Given the description of an element on the screen output the (x, y) to click on. 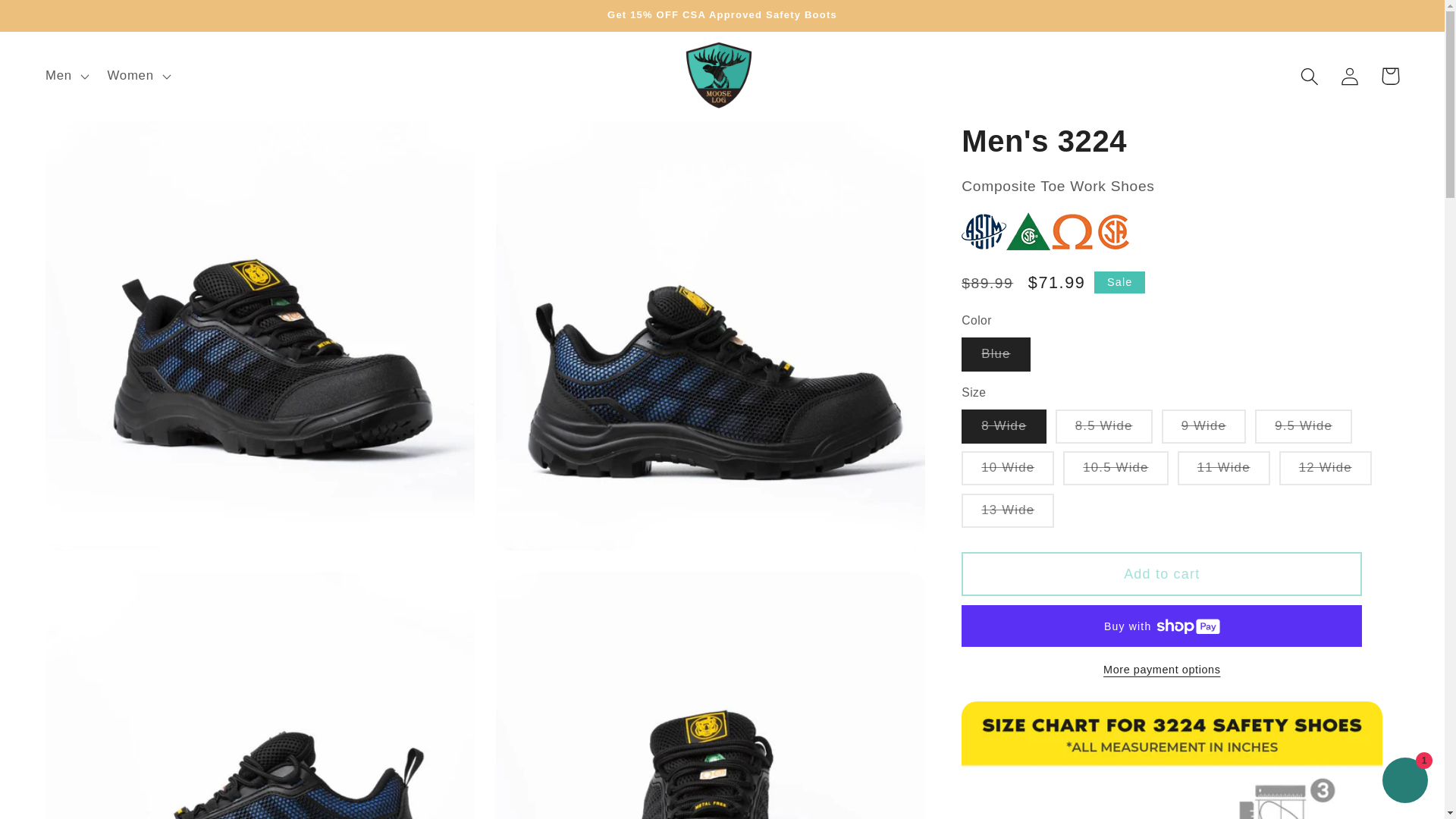
Skip to content (56, 21)
Add to cart (1160, 574)
Shopify online store chat (1404, 781)
Skip to product information (101, 142)
Cart (1390, 76)
